Given the description of an element on the screen output the (x, y) to click on. 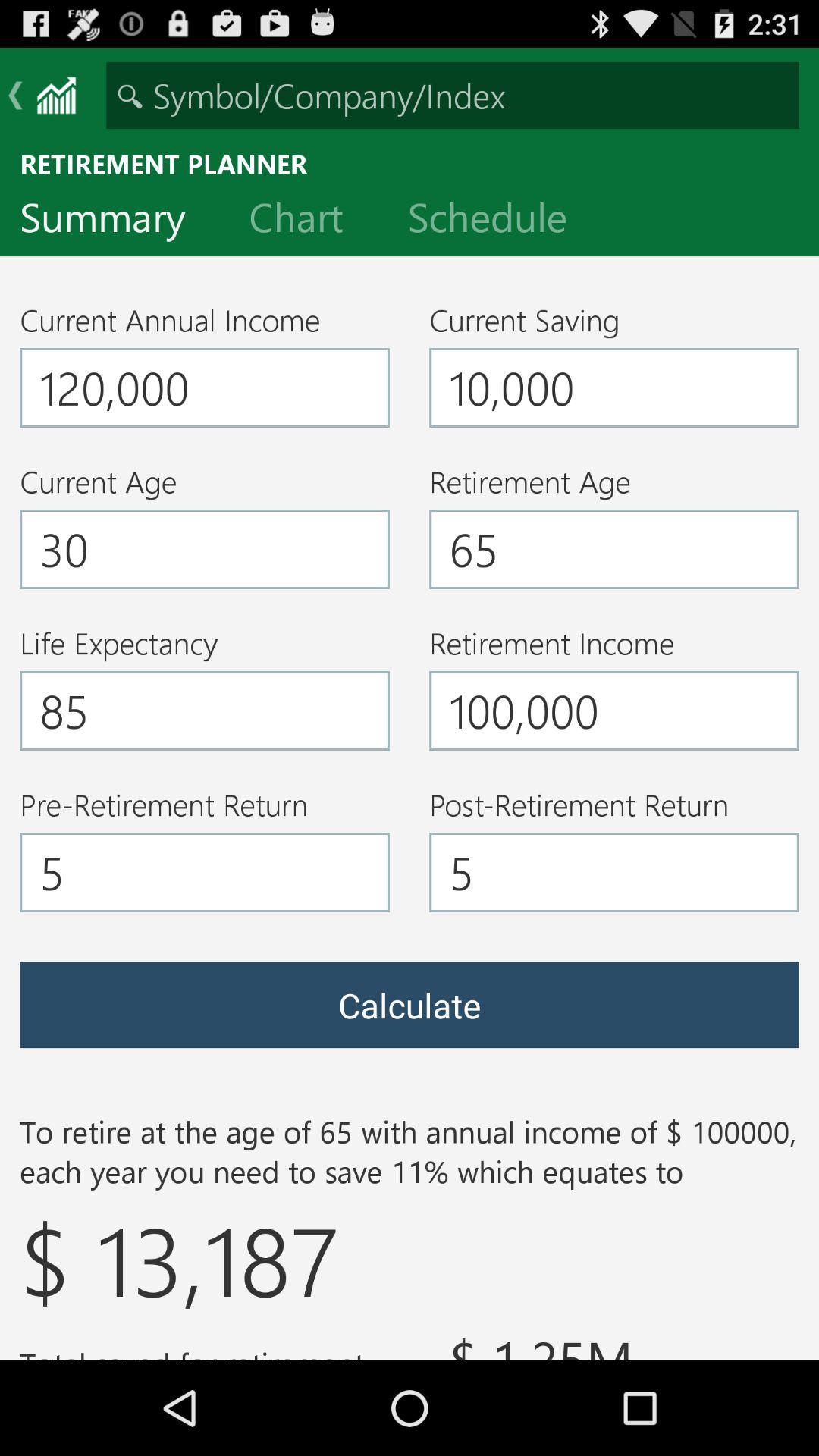
click on the box below life expectancy (204, 711)
